Given the description of an element on the screen output the (x, y) to click on. 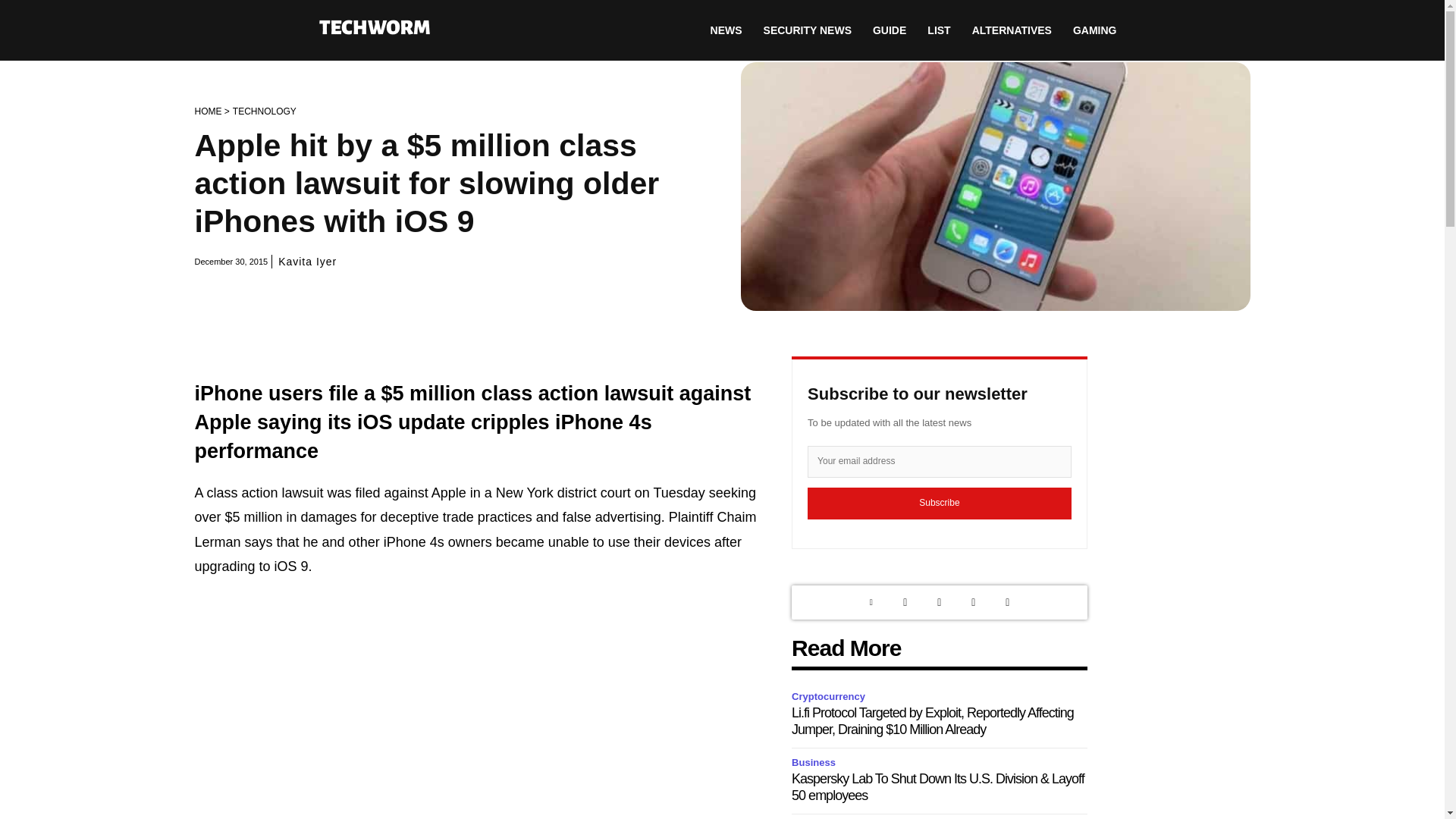
GUIDE (889, 30)
Linkedin (870, 601)
ALTERNATIVES (1011, 30)
Subscribe (939, 503)
View all posts in Technology (264, 111)
TECHNOLOGY (264, 111)
Kavita Iyer (307, 261)
Twitter (904, 601)
GAMING (1094, 30)
Instagram (939, 601)
Facebook (973, 601)
SECURITY NEWS (806, 30)
Youtube (1007, 601)
Cryptocurrency (830, 696)
Business (816, 763)
